Given the description of an element on the screen output the (x, y) to click on. 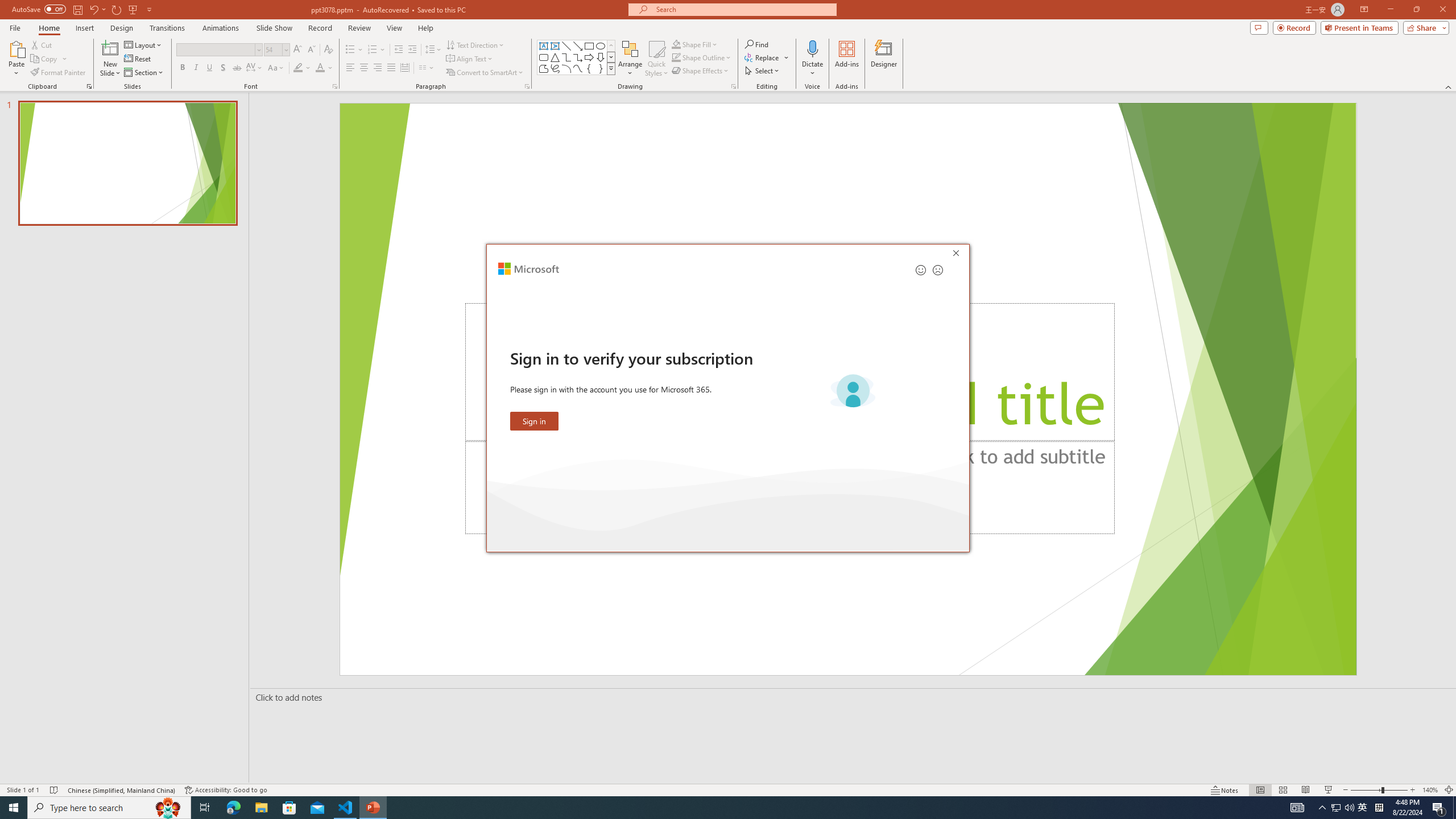
Select (762, 69)
Underline (209, 67)
Decrease Font Size (310, 49)
Isosceles Triangle (554, 57)
Bold (182, 67)
